Given the description of an element on the screen output the (x, y) to click on. 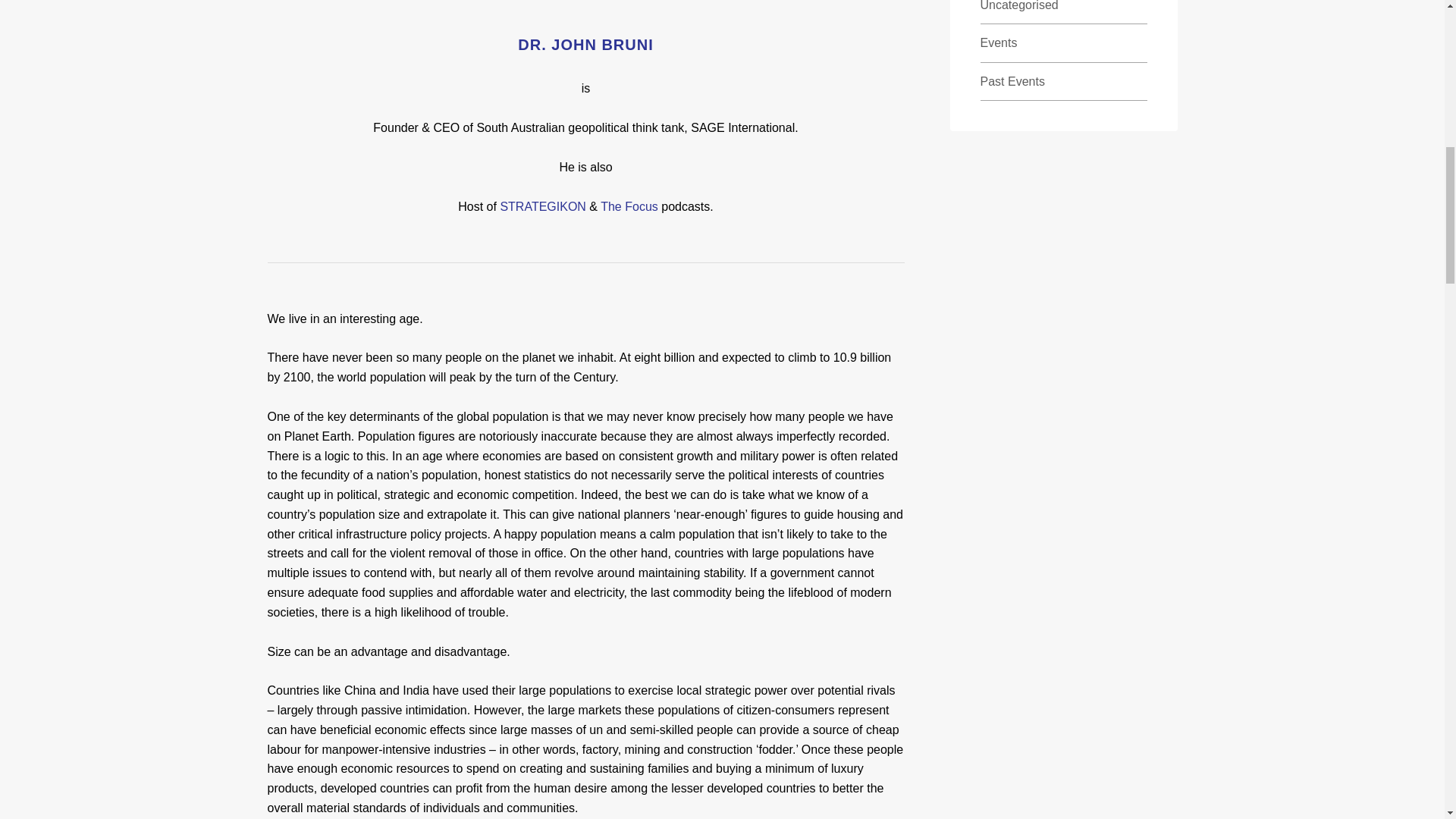
STRATEGIKON (542, 205)
The Focus (628, 205)
DR. JOHN BRUNI (585, 37)
